Given the description of an element on the screen output the (x, y) to click on. 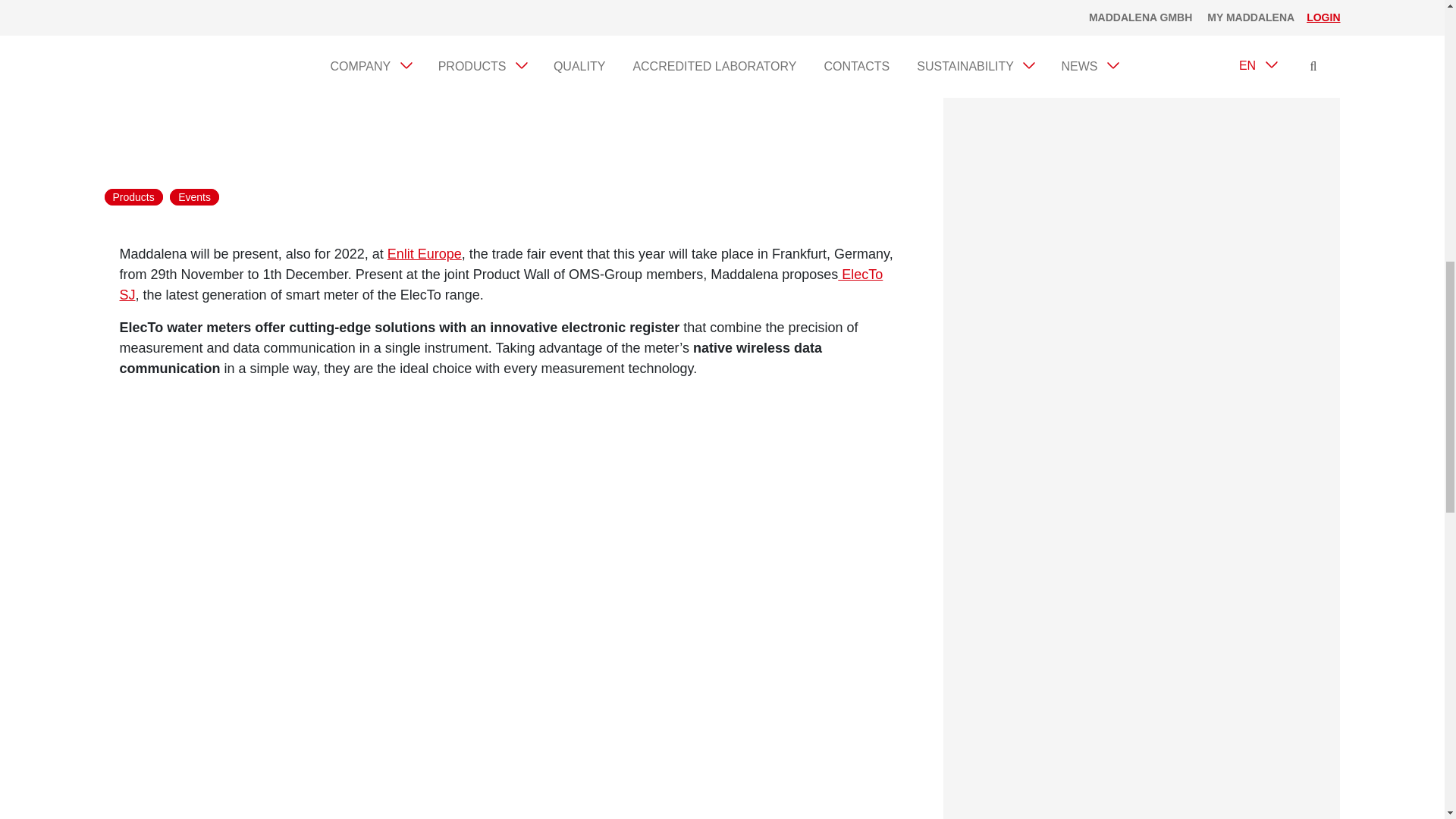
ElecTo SJ (501, 284)
Enlit Europe (424, 253)
Events (194, 197)
Products (133, 197)
